Given the description of an element on the screen output the (x, y) to click on. 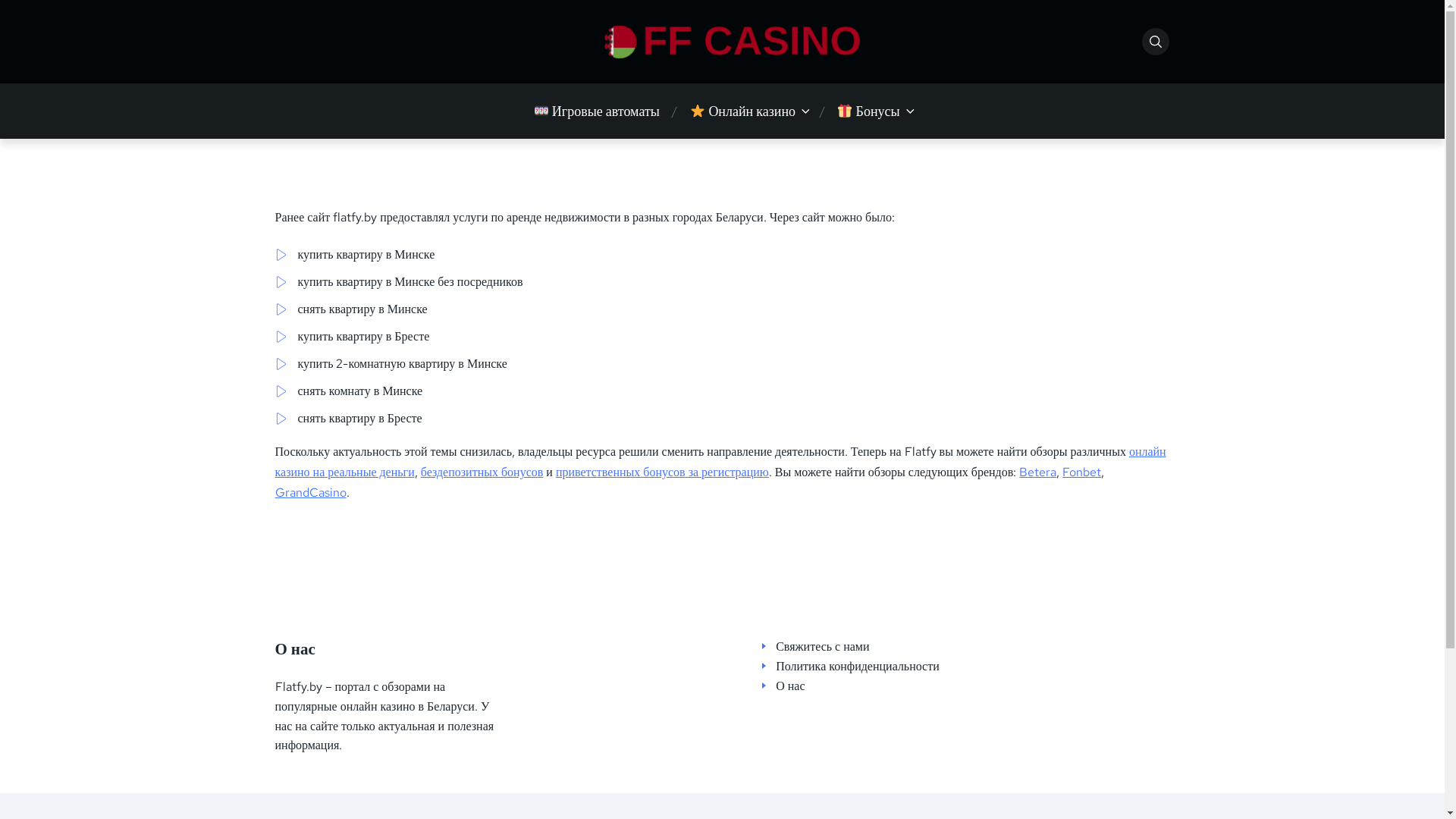
Betera Element type: text (1037, 472)
Fonbet Element type: text (1081, 472)
GrandCasino Element type: text (309, 492)
